Given the description of an element on the screen output the (x, y) to click on. 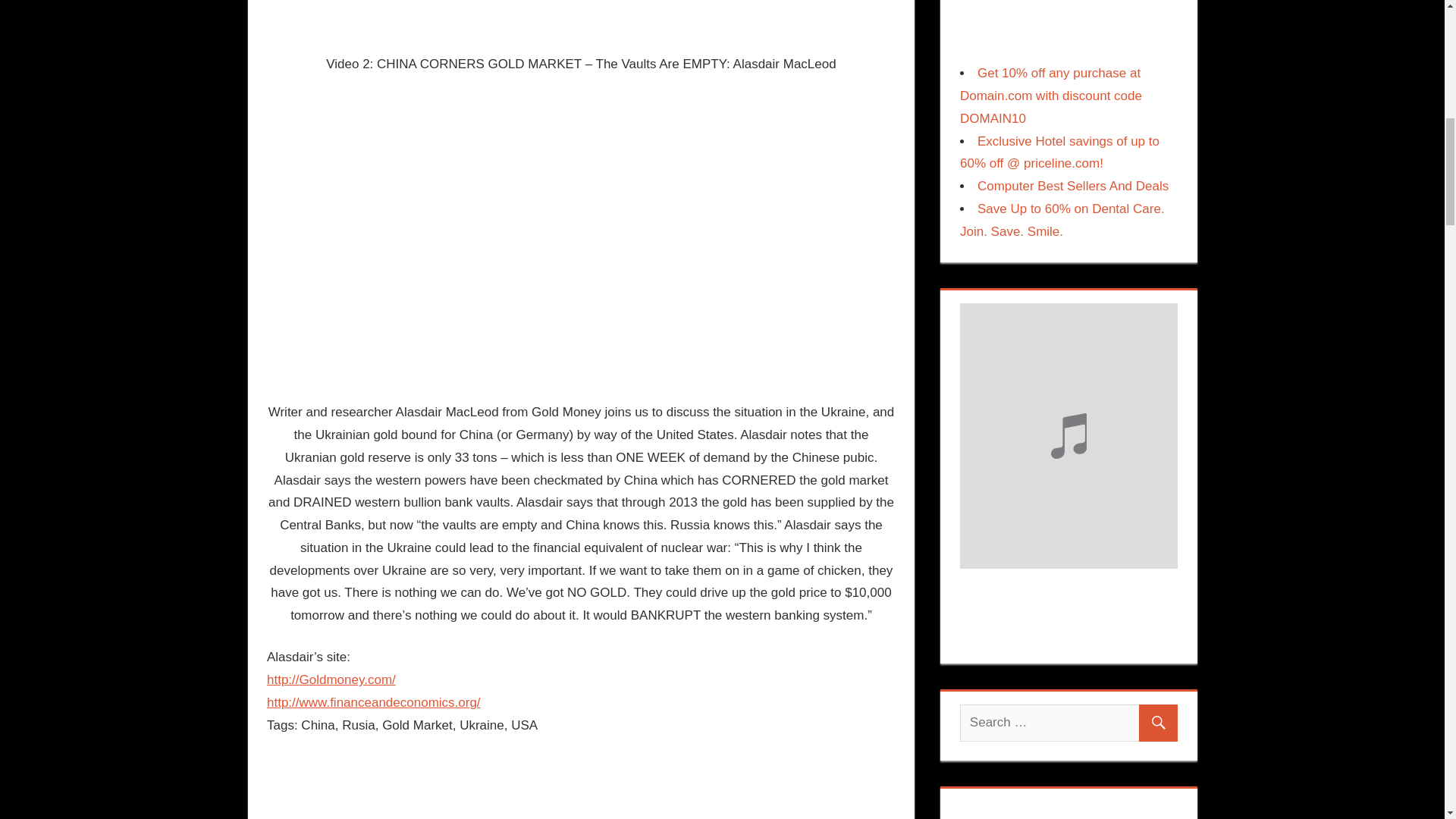
Search for: (1068, 723)
